Given the description of an element on the screen output the (x, y) to click on. 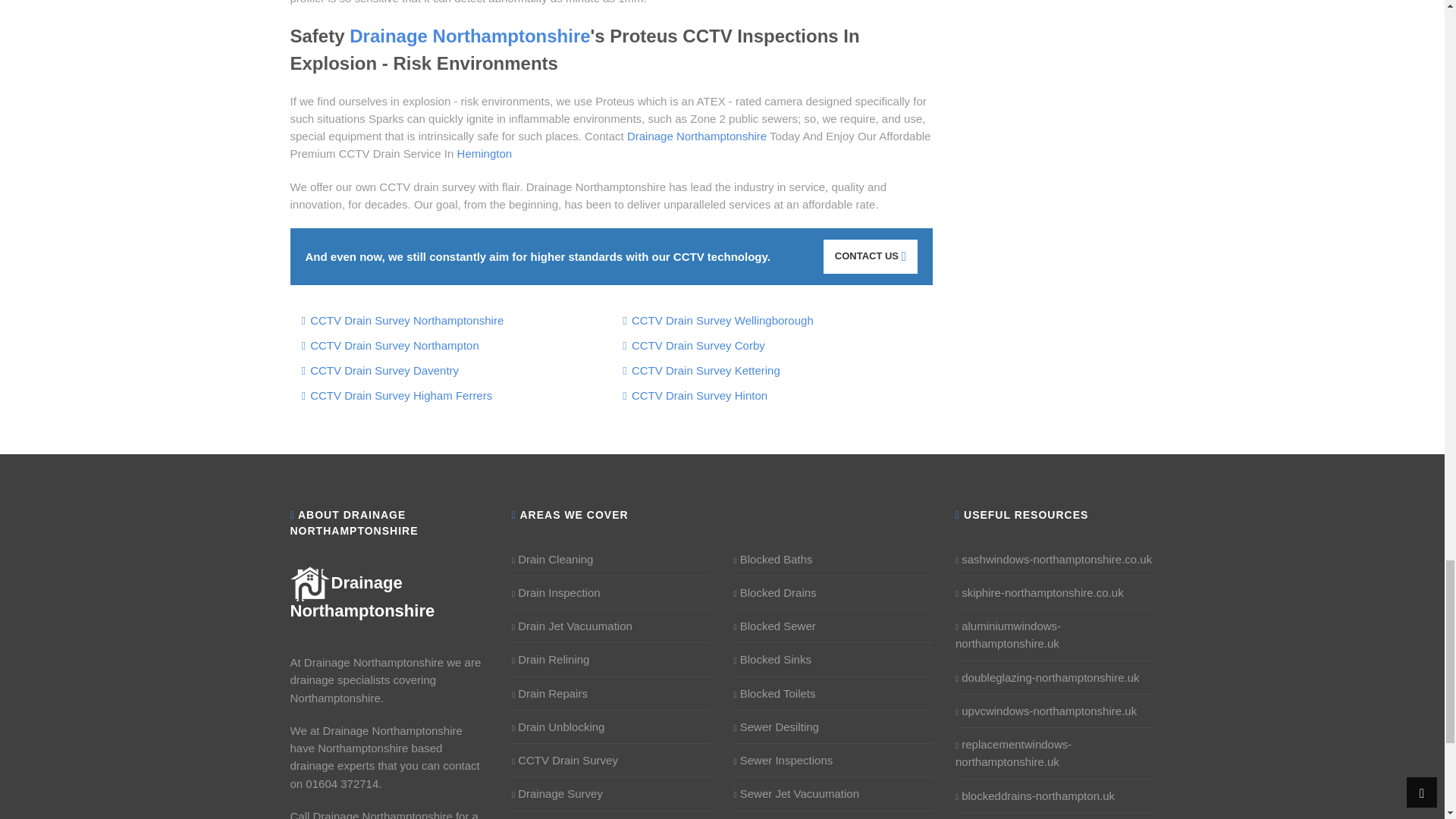
drainagenorthamptonshire.uk (361, 596)
